Given the description of an element on the screen output the (x, y) to click on. 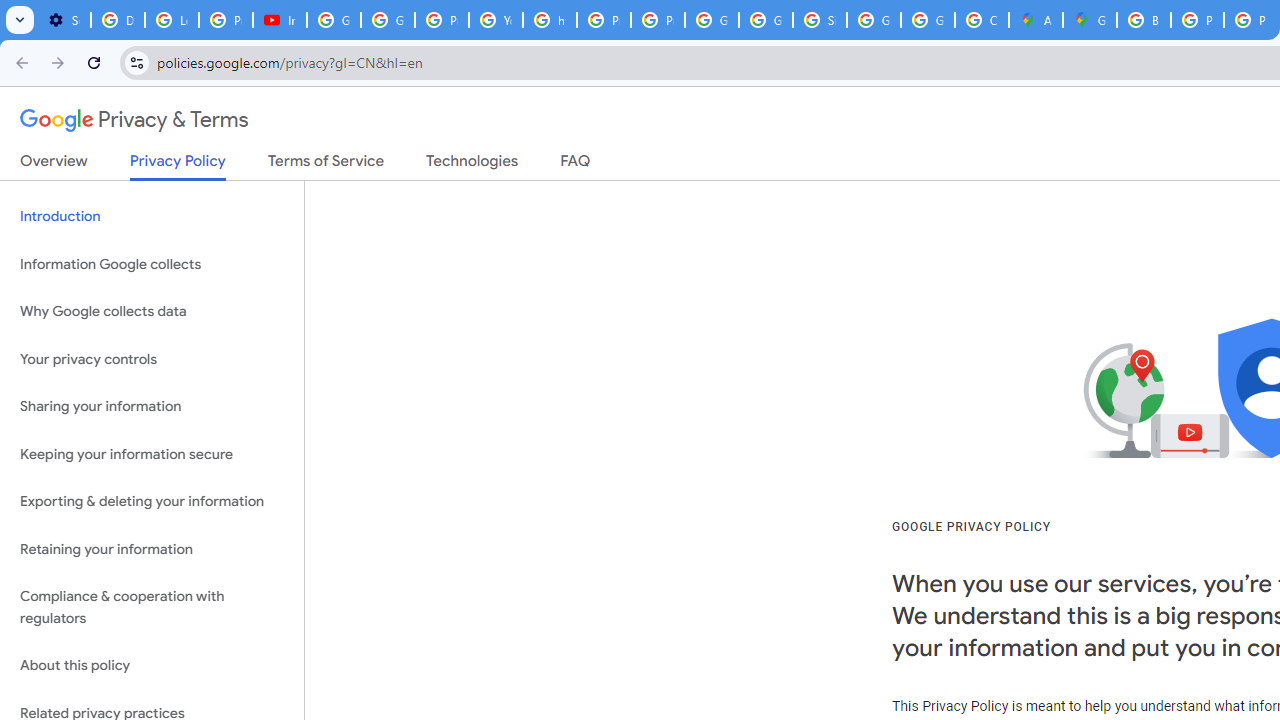
Google Maps (1089, 20)
Why Google collects data (152, 312)
Learn how to find your photos - Google Photos Help (171, 20)
Your privacy controls (152, 358)
Google Account Help (333, 20)
YouTube (495, 20)
Create your Google Account (981, 20)
